Given the description of an element on the screen output the (x, y) to click on. 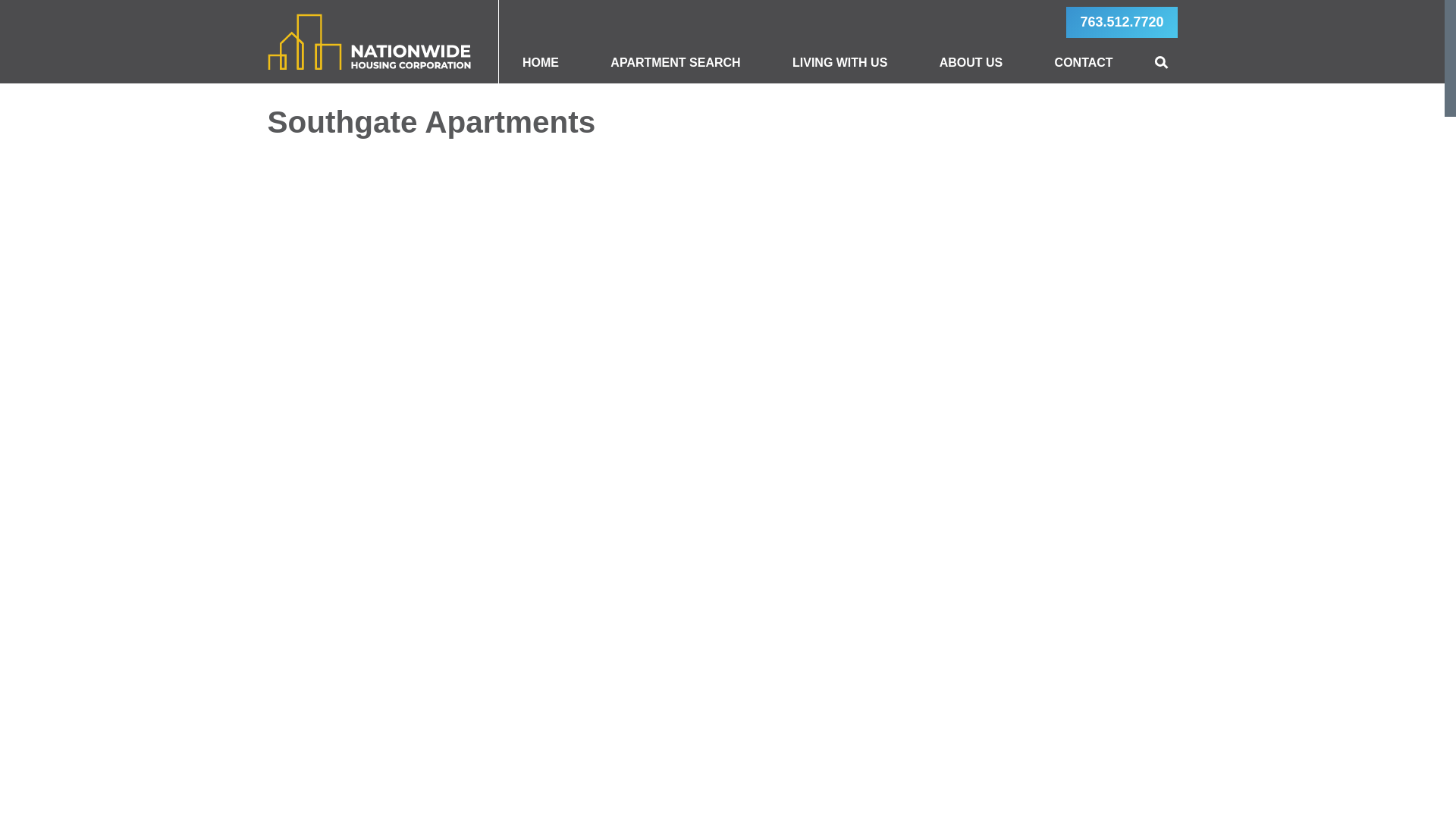
763.512.7720 (1120, 21)
HOME (540, 62)
CONTACT (1082, 62)
Call Us Today (1120, 21)
LIVING WITH US (838, 62)
ABOUT US (970, 62)
APARTMENT SEARCH (675, 62)
